Given the description of an element on the screen output the (x, y) to click on. 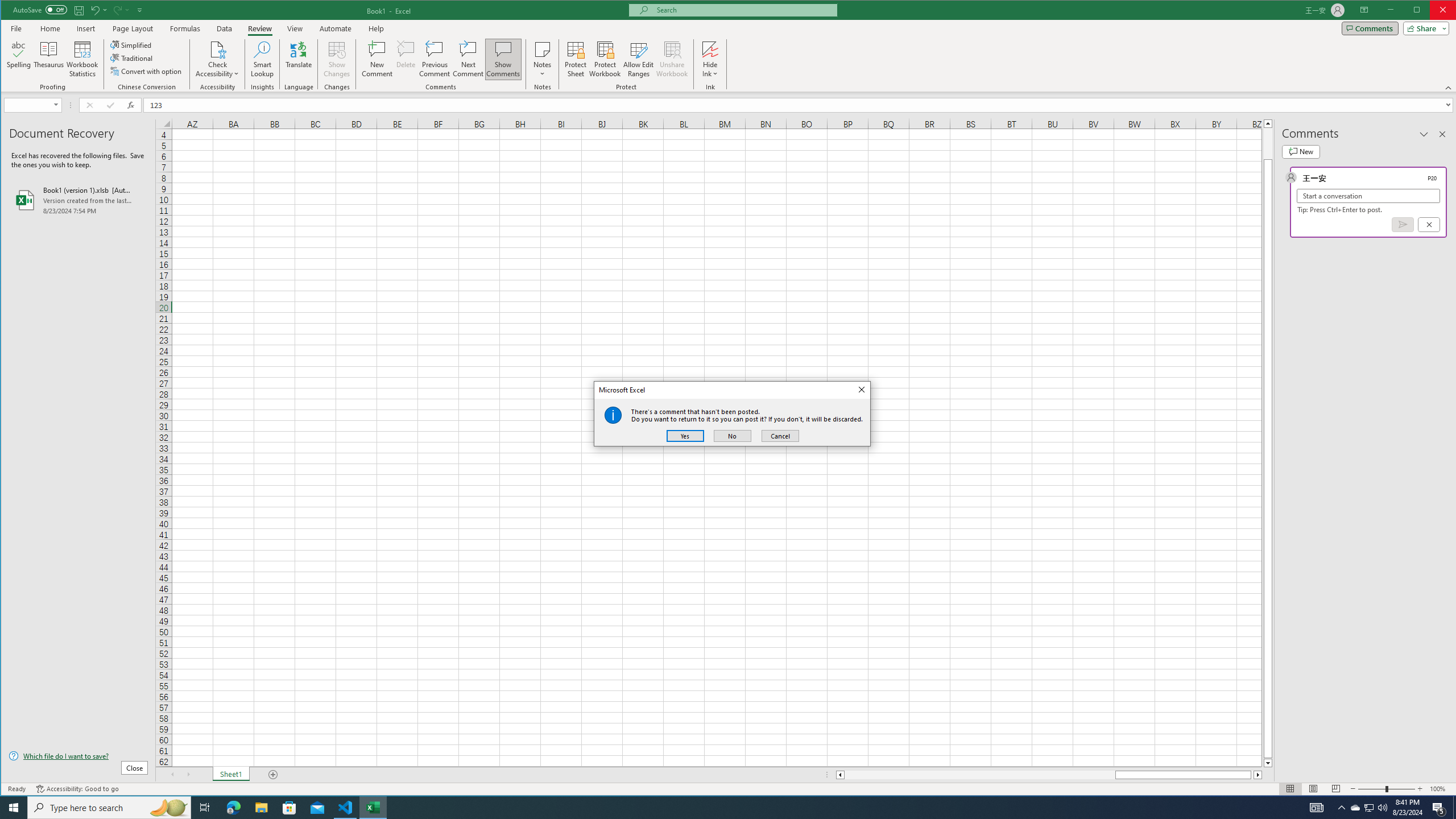
Home (50, 28)
Microsoft Edge (233, 807)
Previous Comment (434, 59)
Convert with option (146, 70)
Formulas (184, 28)
Unshare Workbook (671, 59)
